Given the description of an element on the screen output the (x, y) to click on. 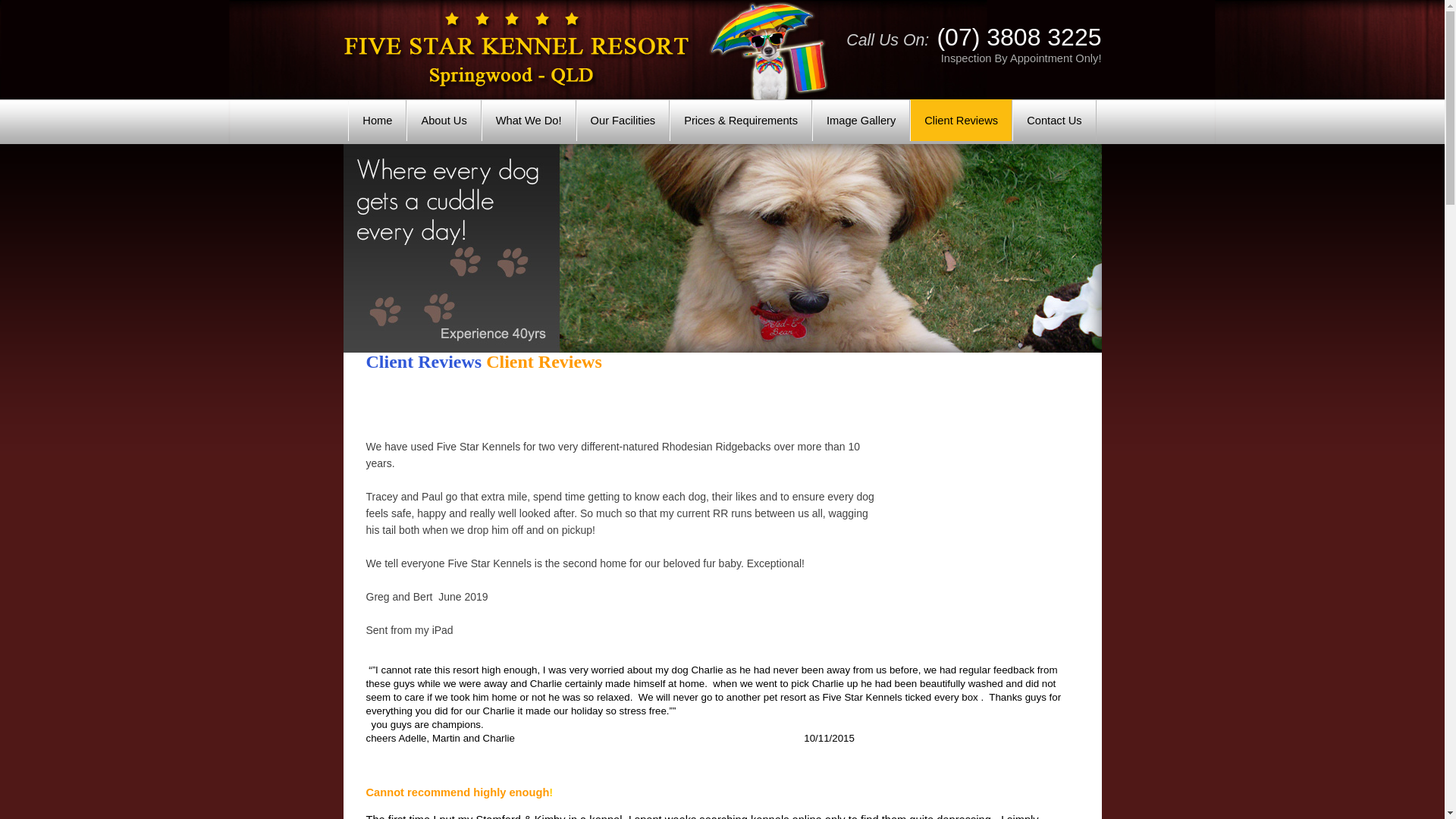
About Us Element type: text (443, 120)
Home Element type: text (377, 120)
Prices & Requirements Element type: text (740, 120)
Image Gallery Element type: text (861, 120)
What We Do! Element type: text (528, 120)
Client Reviews Element type: text (423, 361)
Contact Us Element type: text (1054, 120)
Client Reviews Element type: text (961, 120)
Our Facilities Element type: text (623, 120)
